Given the description of an element on the screen output the (x, y) to click on. 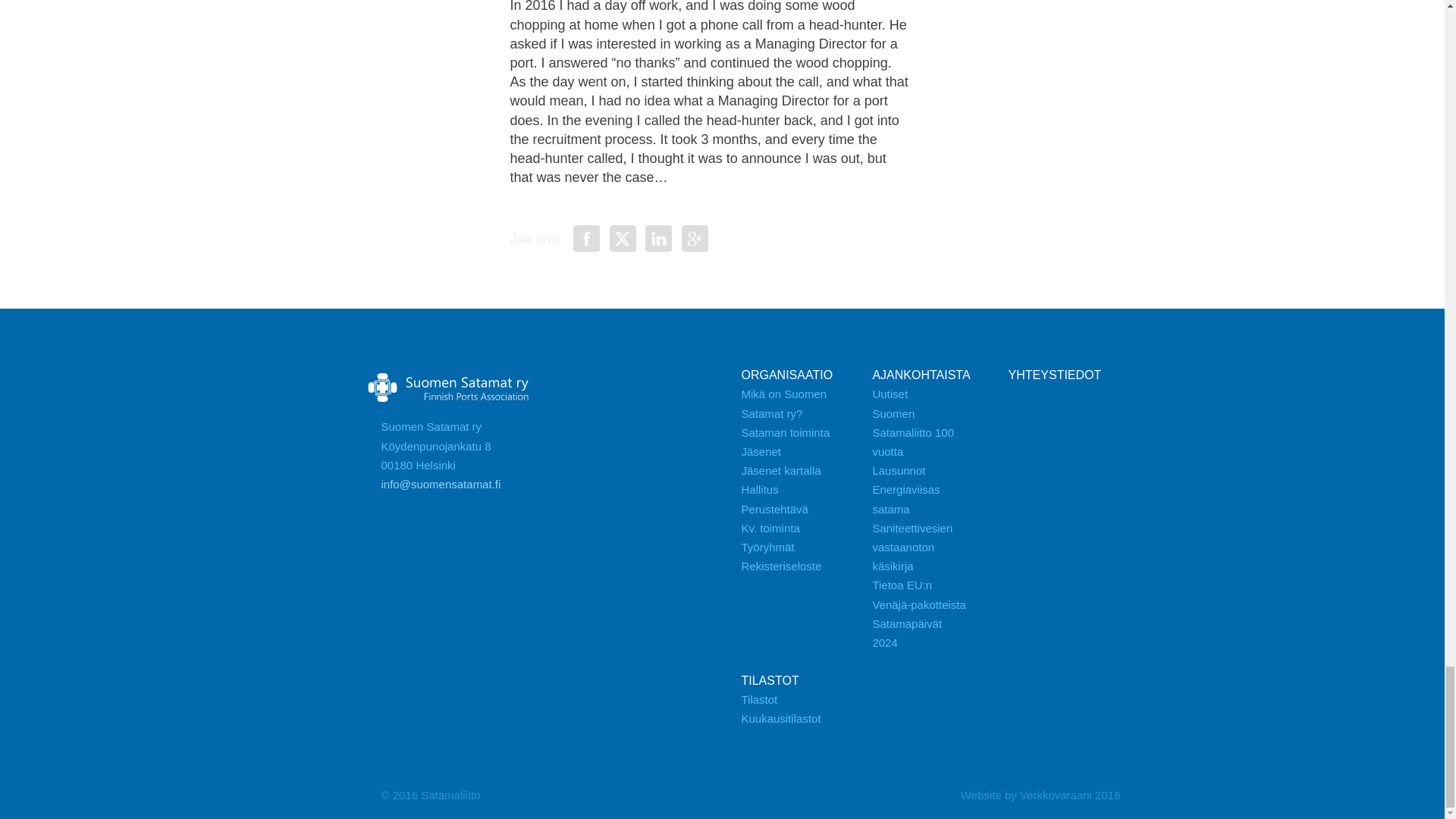
by Verkkovaraani (1040, 794)
Suomen Satamaliitto (448, 388)
